Given the description of an element on the screen output the (x, y) to click on. 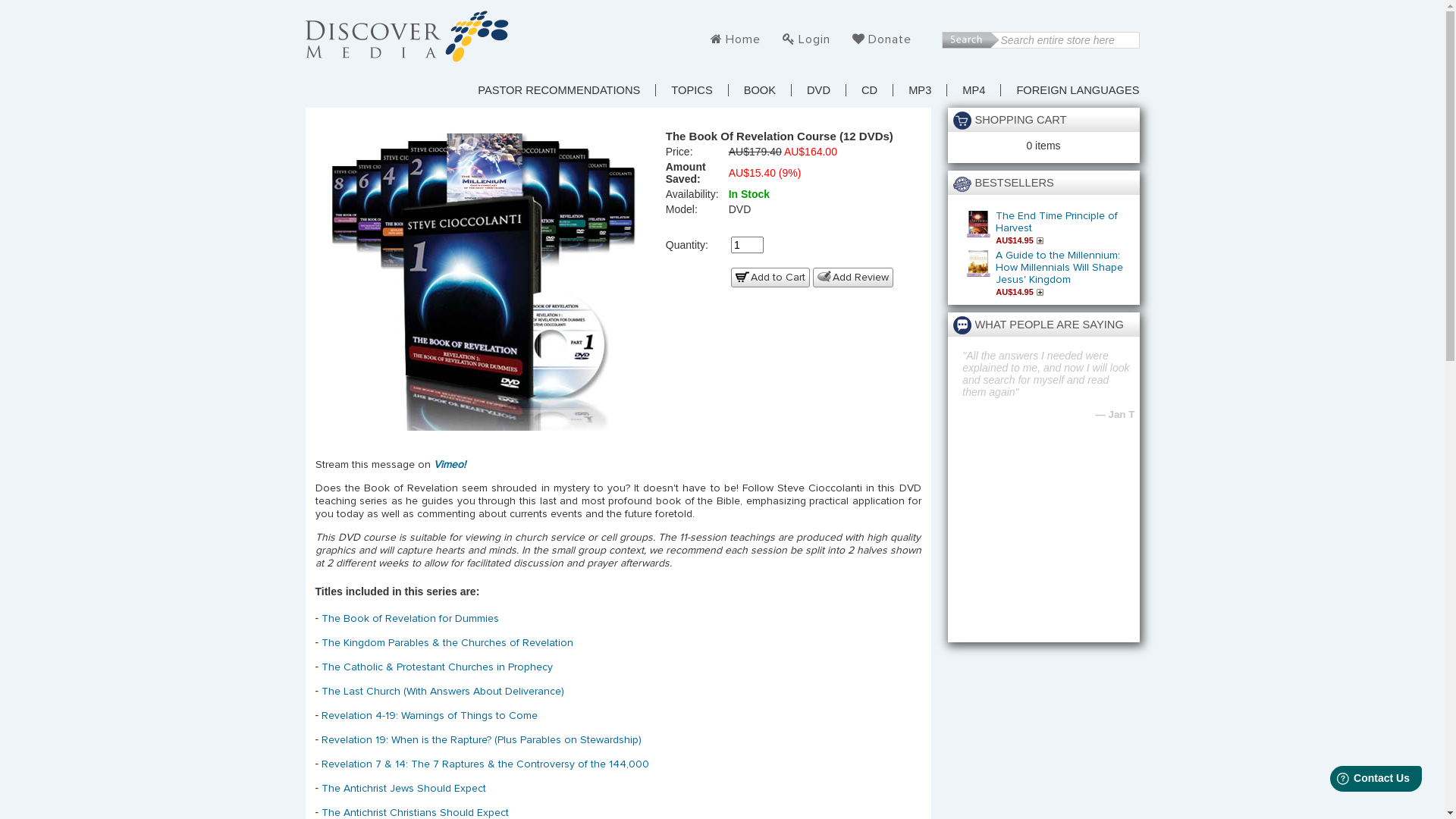
Home Element type: text (742, 39)
MP3 Element type: text (927, 90)
  Element type: text (1041, 240)
The Book of Revelation for Dummies Element type: text (409, 618)
BOOK Element type: text (766, 90)
Vimeo! Element type: text (449, 464)
TOPICS Element type: text (699, 90)
Revelation 4-19: Warnings of Things to Come Element type: text (429, 715)
Discover Ministries Online Shop Element type: hover (406, 36)
The Catholic & Protestant Churches in Prophecy Element type: text (436, 667)
Add Review Element type: text (852, 277)
Login Element type: text (814, 39)
The Last Church (With Answers About Deliverance) Element type: text (442, 691)
The Book Of Revelation Course Element type: hover (483, 278)
Add to Cart Element type: text (770, 277)
PASTOR RECOMMENDATIONS Element type: text (566, 90)
Add to Cart Element type: hover (1041, 291)
The Kingdom Parables & the Churches of Revelation Element type: text (447, 642)
  Element type: text (970, 39)
The Antichrist Jews Should Expect Element type: text (403, 788)
FOREIGN LANGUAGES Element type: text (1077, 90)
CD Element type: text (876, 90)
  Element type: text (1041, 291)
The End Time Principle of Harvest Element type: text (1056, 221)
Add to Cart Element type: hover (1041, 240)
Donate Element type: text (888, 39)
The Antichrist Christians Should Expect Element type: text (414, 812)
MP4 Element type: text (981, 90)
DVD Element type: text (825, 90)
